Given the description of an element on the screen output the (x, y) to click on. 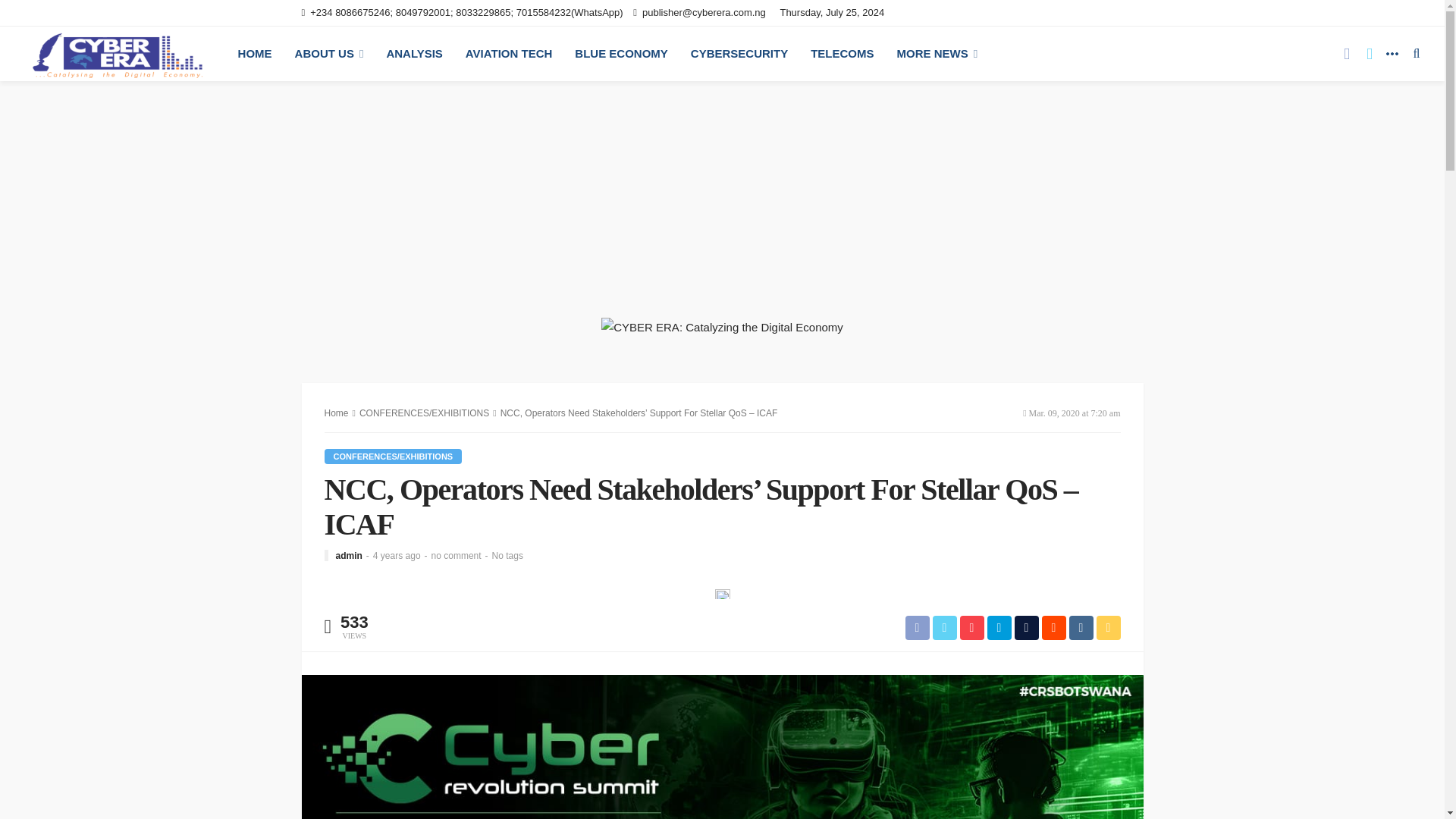
CYBER ERA: Catalyzing the Digital Economy (116, 53)
